Given the description of an element on the screen output the (x, y) to click on. 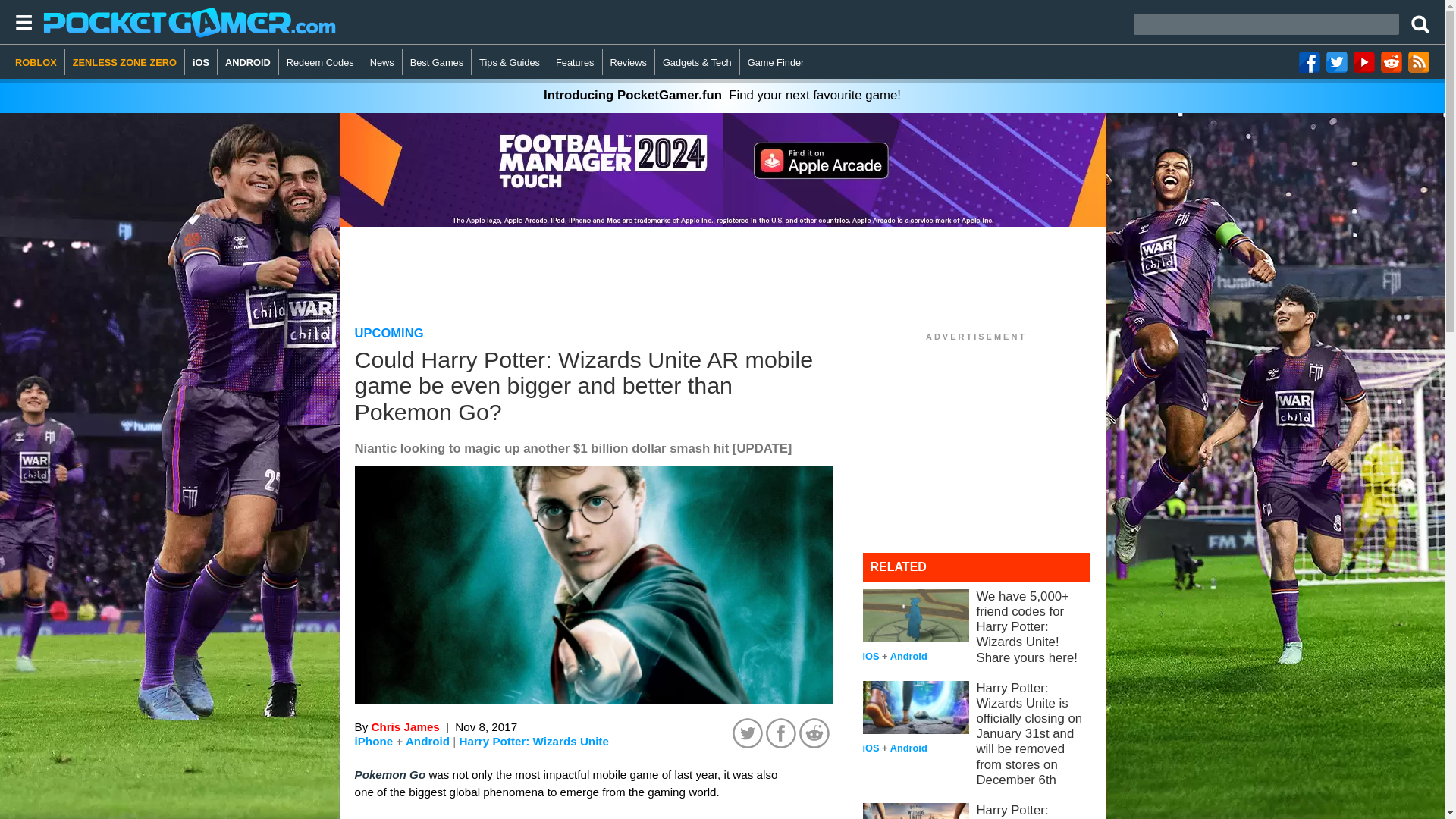
UPCOMING (389, 332)
Android (427, 740)
Chris James (405, 726)
ANDROID (247, 62)
Best Games (437, 62)
iOS (200, 62)
ZENLESS ZONE ZERO (124, 62)
Pokemon Go (390, 775)
Harry Potter: Wizards Unite (534, 741)
Redeem Codes (320, 62)
